Given the description of an element on the screen output the (x, y) to click on. 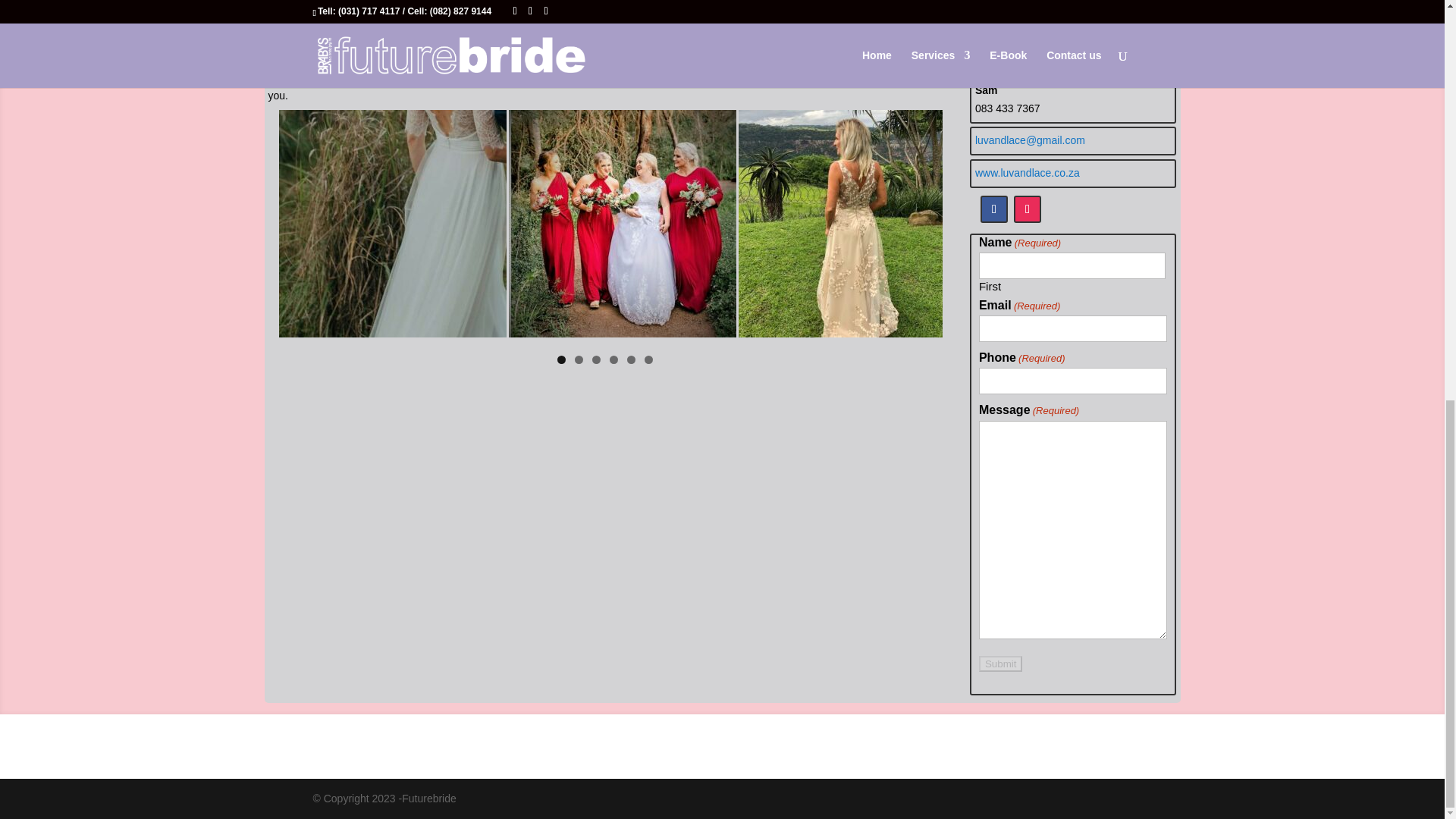
Submit (1000, 663)
Follow on Facebook (993, 208)
Follow on Instagram (1027, 208)
